Given the description of an element on the screen output the (x, y) to click on. 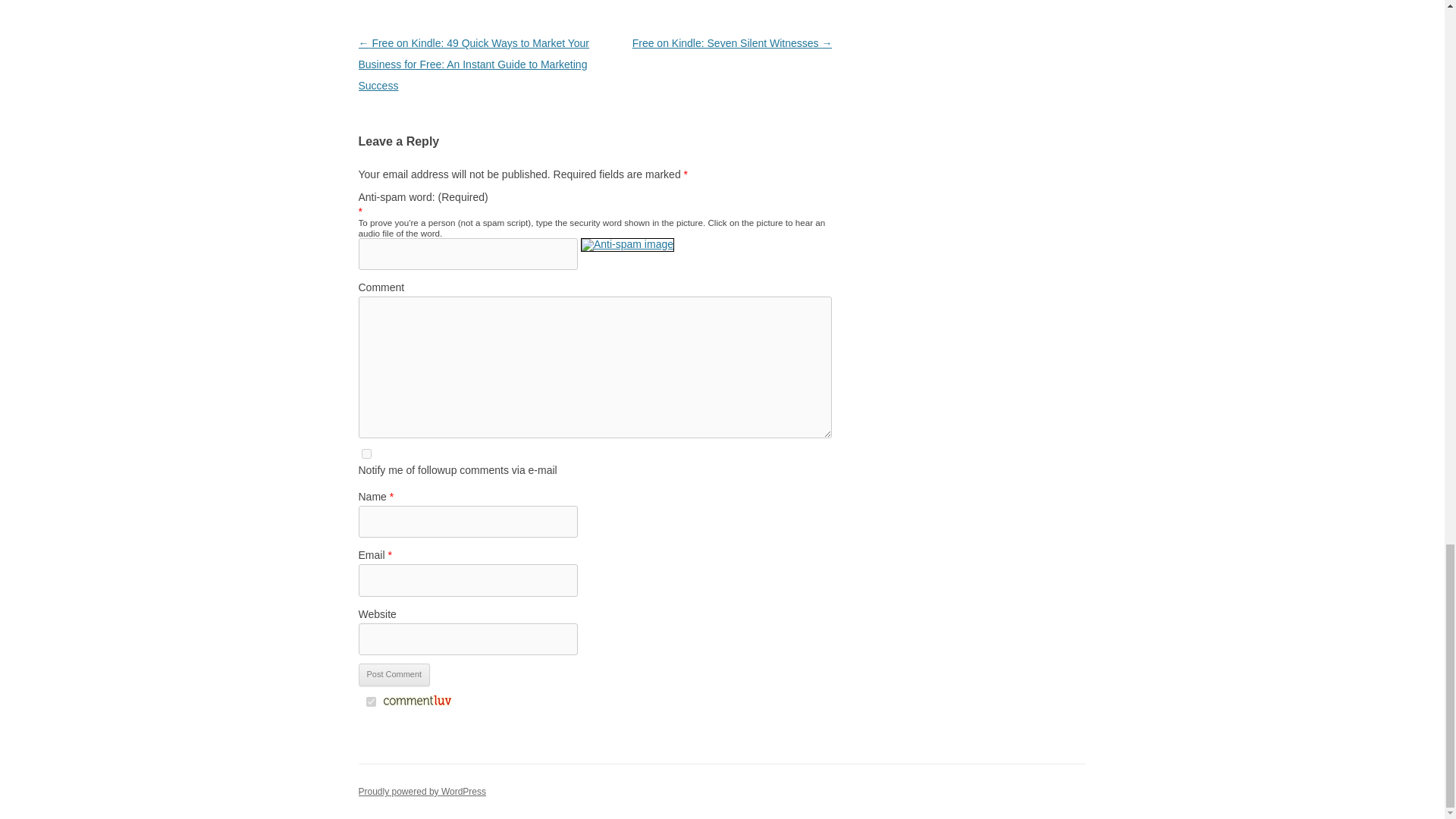
Post Comment (393, 674)
CommentLuv is enabled (416, 702)
Post Comment (393, 674)
on (370, 701)
Click to hear an audio file of the anti-spam word (627, 253)
Semantic Personal Publishing Platform (422, 791)
subscribe (366, 453)
